Given the description of an element on the screen output the (x, y) to click on. 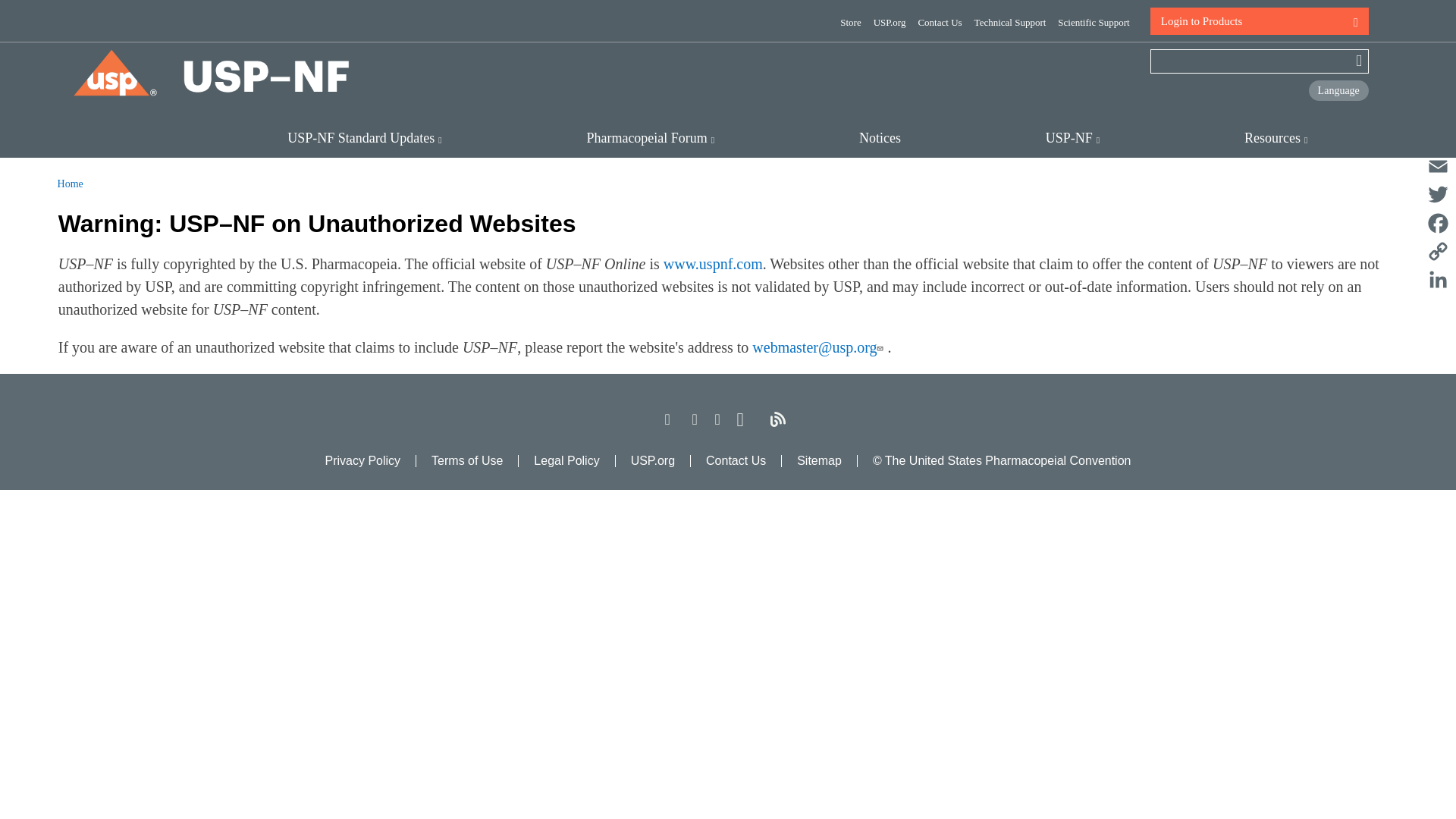
USP-NF (1072, 138)
Login to Products (1259, 21)
USP-NF Standard Updates (364, 138)
Notices (880, 137)
Pharmacopeial Forum (650, 138)
Store (850, 21)
Technical Support (1010, 21)
Contact Us (939, 21)
Buscar (1353, 61)
Buscar (1353, 61)
USP.org (889, 21)
Scientific Support (1093, 21)
